Given the description of an element on the screen output the (x, y) to click on. 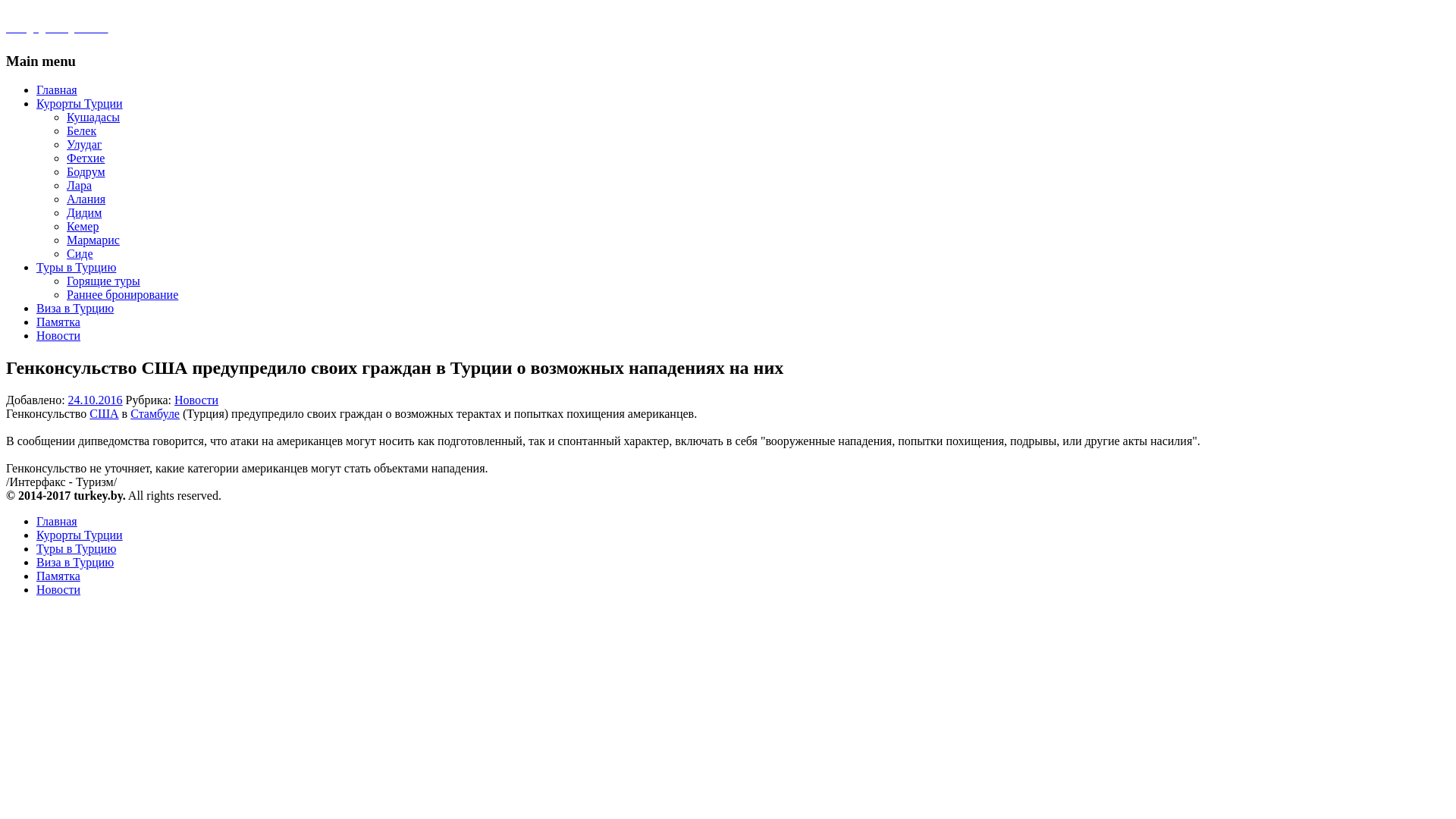
24.10.2016 Element type: text (95, 399)
